Given the description of an element on the screen output the (x, y) to click on. 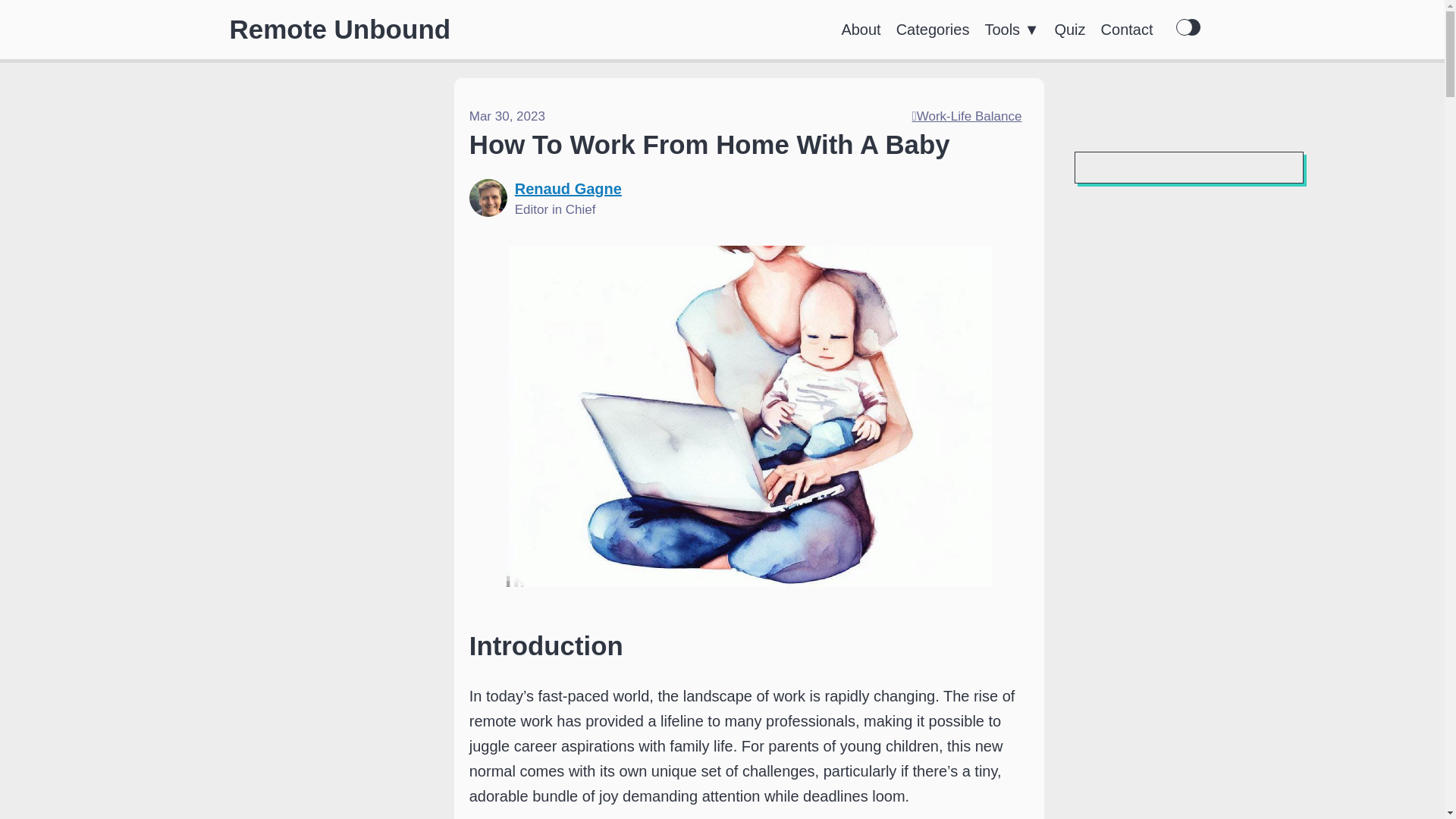
Work-Life Balance (966, 115)
Categories (932, 29)
About (860, 29)
Contact (1126, 29)
How To Work From Home With A Baby (709, 143)
Remote Unbound (338, 29)
Renaud Gagne (568, 188)
Quiz (1069, 29)
